Given the description of an element on the screen output the (x, y) to click on. 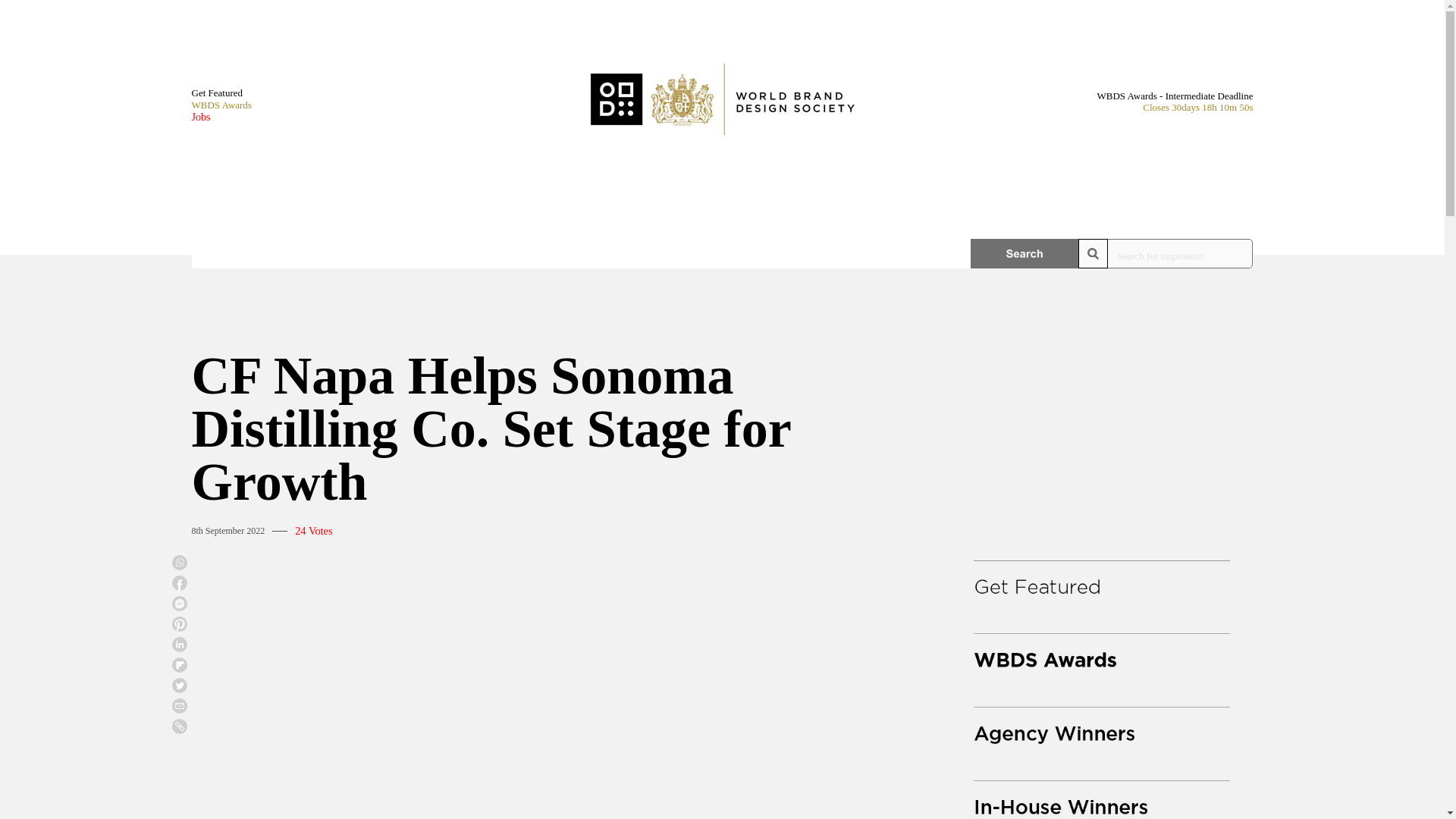
WBDS Awards (220, 104)
Search (1024, 253)
Search (1024, 253)
Get Featured (220, 92)
Jobs (220, 117)
